Given the description of an element on the screen output the (x, y) to click on. 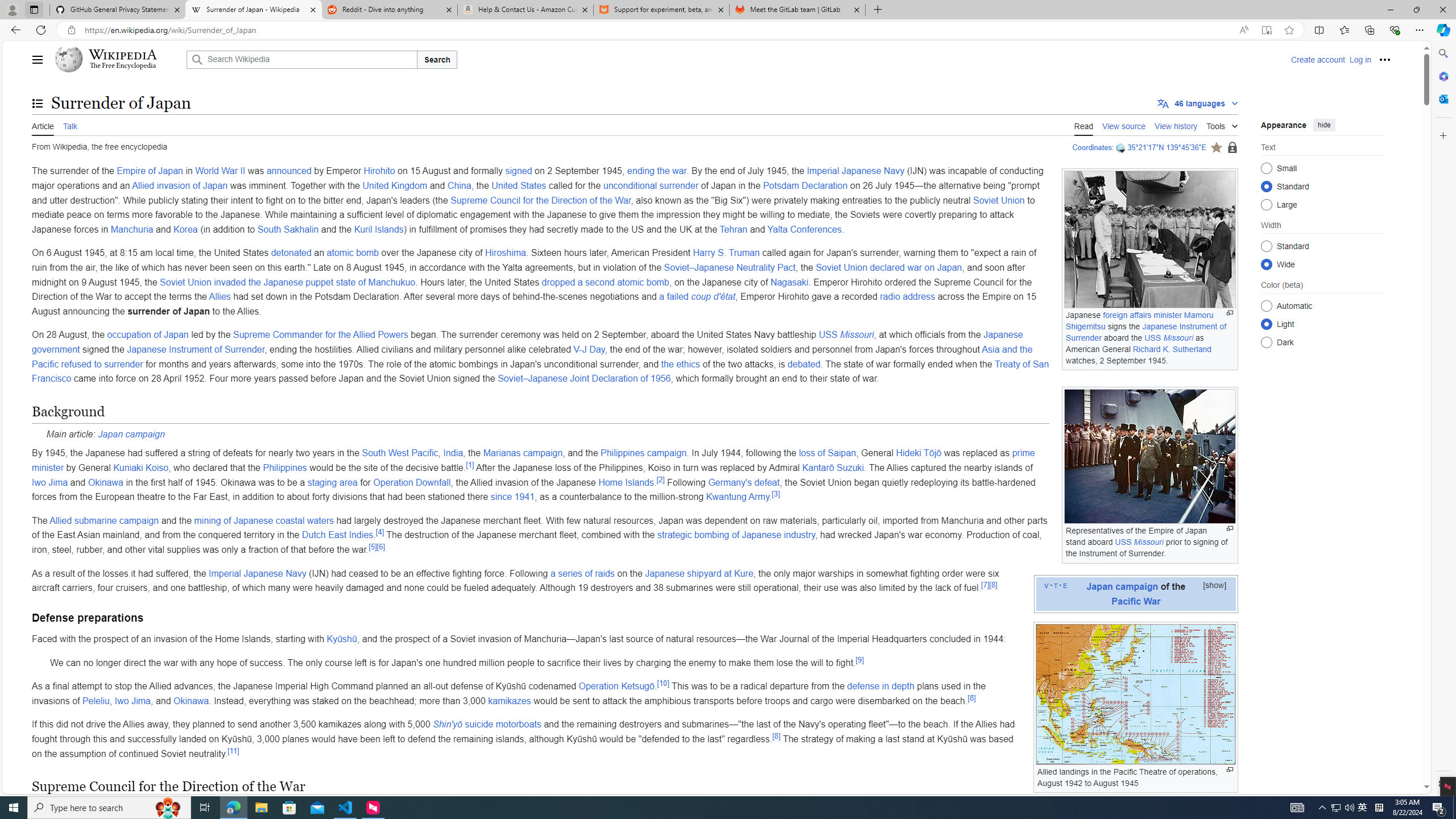
defense in depth (880, 686)
Read (1083, 124)
atomic bomb (353, 252)
GitHub General Privacy Statement - GitHub Docs (117, 9)
View source (1123, 124)
kamikazes (509, 700)
debated (804, 363)
[8] (775, 735)
the ethics (680, 363)
View history (1176, 124)
staging area (332, 482)
Automatic (1266, 305)
